Given the description of an element on the screen output the (x, y) to click on. 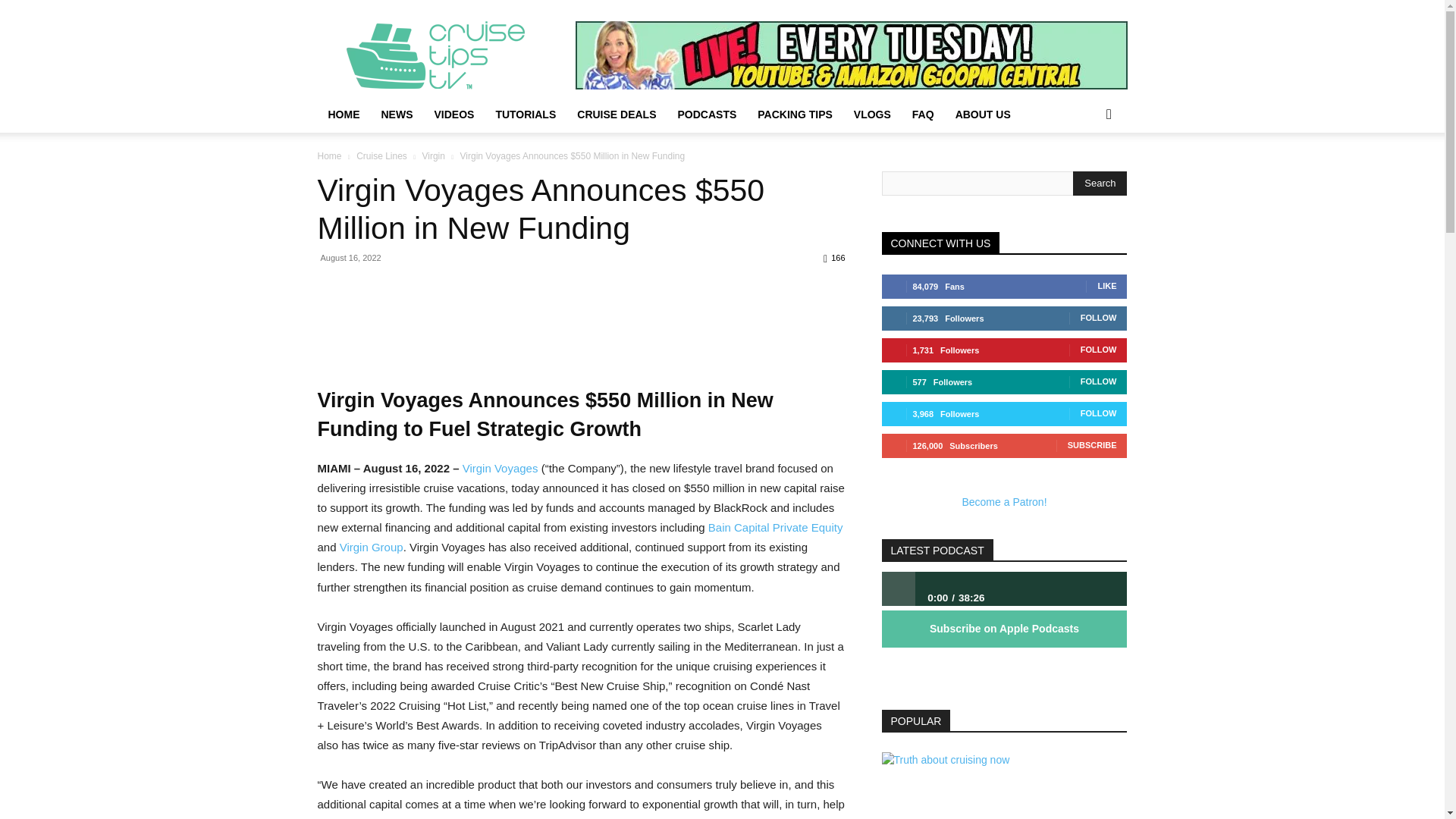
View all posts in Cruise Lines (381, 155)
TUTORIALS (525, 114)
CruiseTipsTV - Your source for cruise tips (445, 55)
View all posts in Virgin (433, 155)
ABOUT US (983, 114)
Search (1099, 183)
topFacebookLike (430, 285)
PACKING TIPS (794, 114)
VIDEOS (453, 114)
VLOGS (872, 114)
PODCASTS (707, 114)
FAQ (922, 114)
NEWS (396, 114)
HOME (343, 114)
CRUISE DEALS (616, 114)
